Given the description of an element on the screen output the (x, y) to click on. 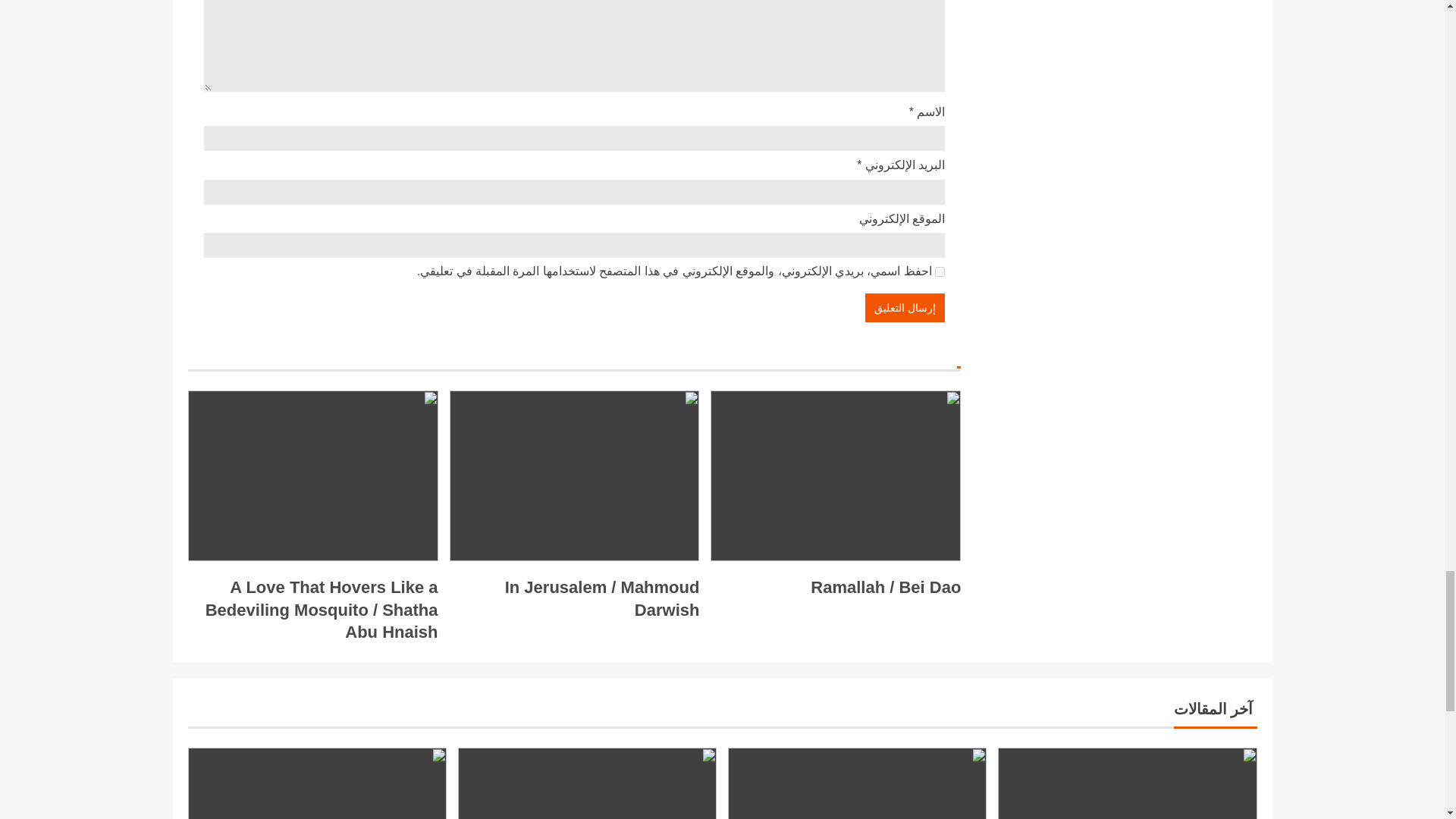
yes (939, 271)
